Given the description of an element on the screen output the (x, y) to click on. 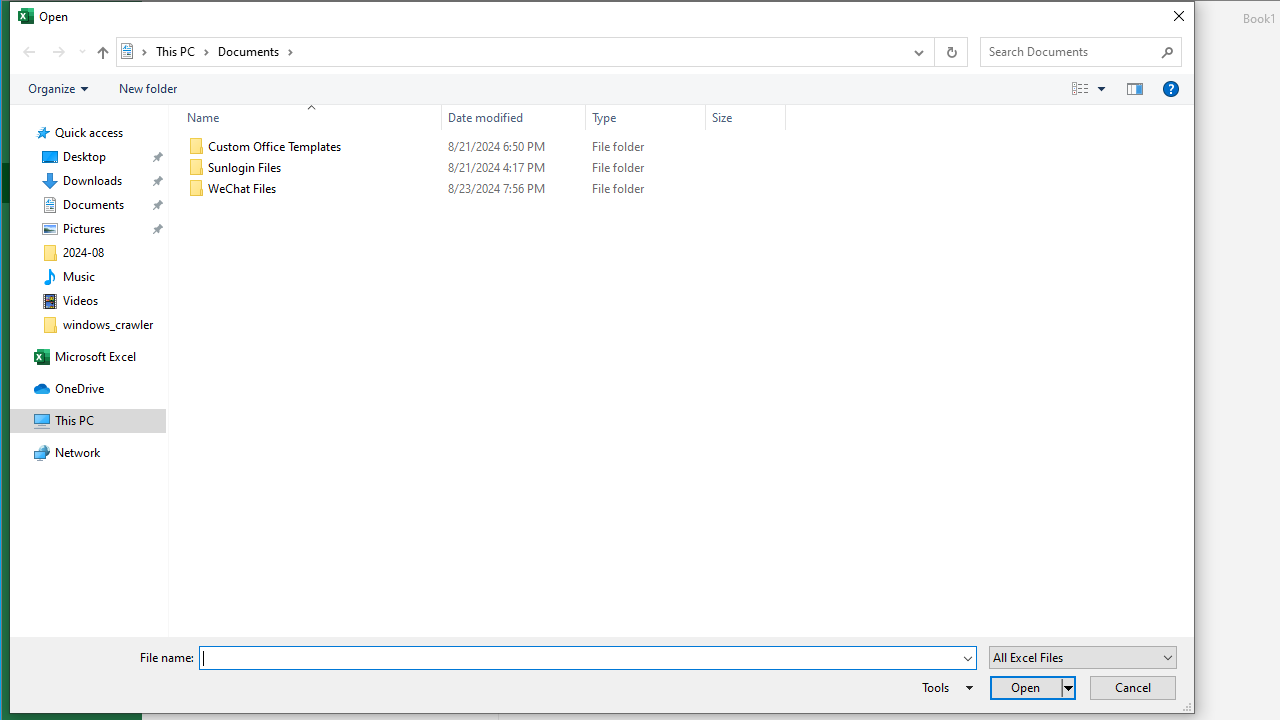
Up to "This PC" (Alt + Up Arrow) (102, 52)
Organize (57, 89)
Files of type: (1083, 656)
WeChat Files (483, 188)
File name: (587, 657)
Address band toolbar (933, 51)
Documents (255, 51)
Views (1093, 89)
File name: (580, 658)
View Slider (1102, 89)
Size (745, 188)
Recent locations (81, 51)
Tools (943, 687)
System (21, 19)
Size (745, 117)
